Given the description of an element on the screen output the (x, y) to click on. 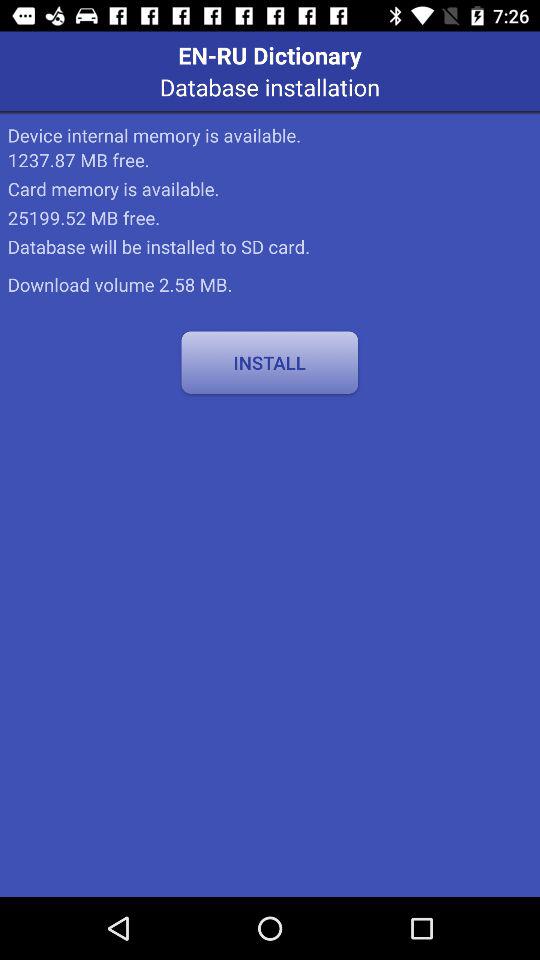
click the item below the download volume 2 item (269, 362)
